Given the description of an element on the screen output the (x, y) to click on. 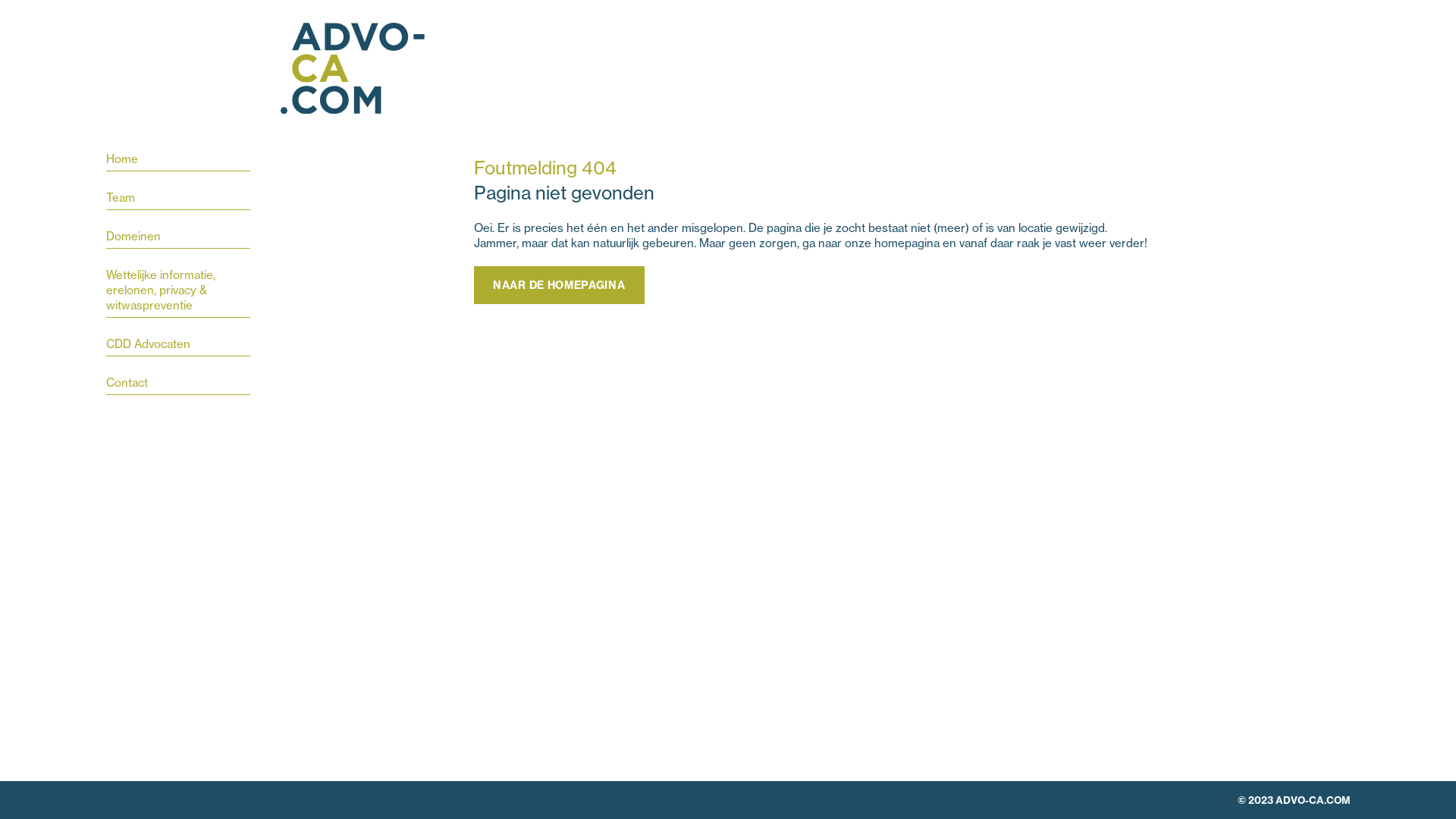
Home Element type: text (178, 161)
Team Element type: text (178, 200)
Contact Element type: text (178, 385)
Wettelijke informatie, erelonen, privacy & witwaspreventie Element type: text (178, 292)
ADVO-CA.COM Element type: text (352, 69)
NAAR DE HOMEPAGINA Element type: text (558, 285)
CDD Advocaten Element type: text (178, 346)
Domeinen Element type: text (178, 238)
